Given the description of an element on the screen output the (x, y) to click on. 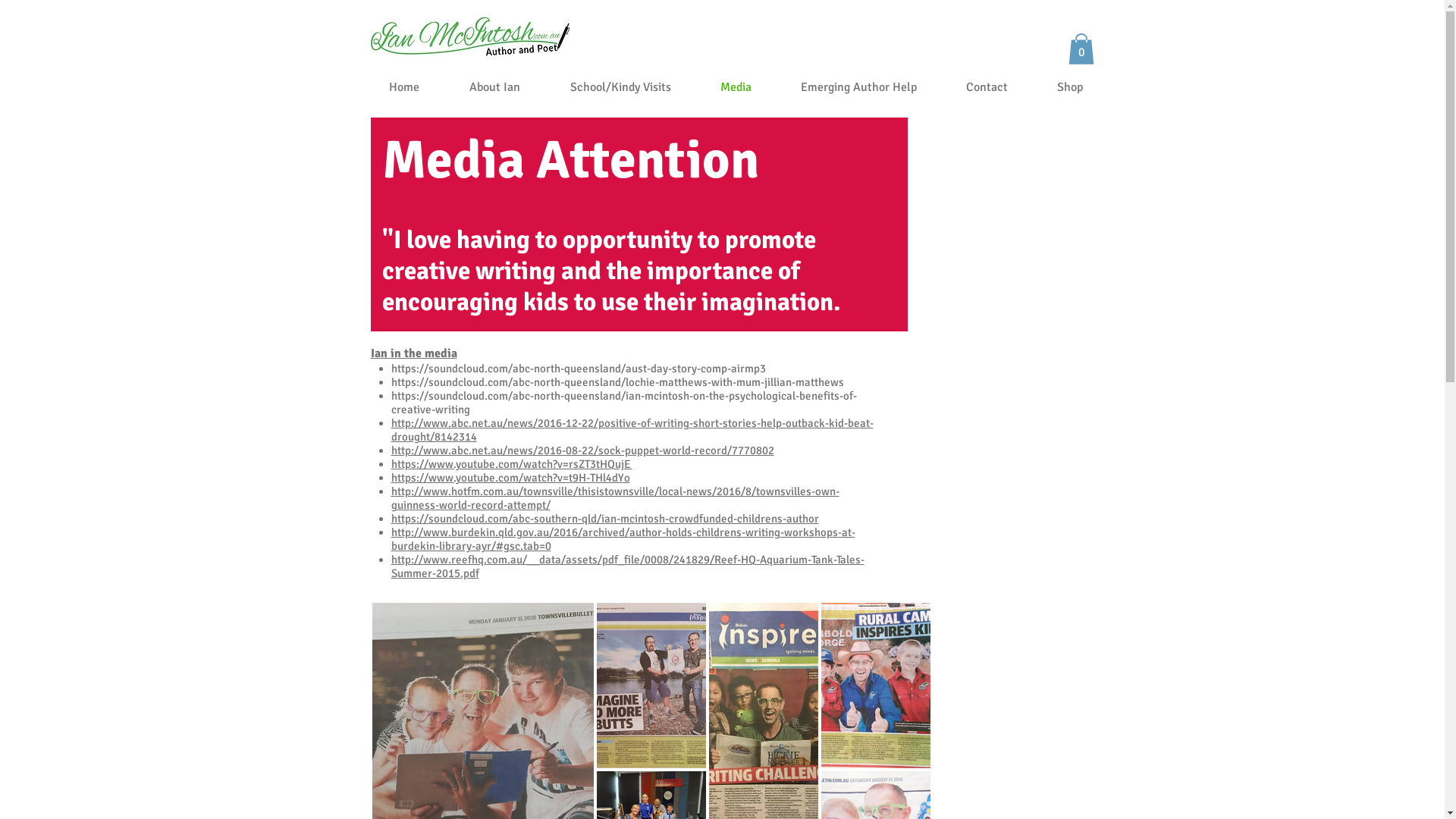
Contact Element type: text (973, 87)
School/Kindy Visits Element type: text (605, 87)
https://www.youtube.com/watch?v=rsZT3tHQujE  Element type: text (511, 463)
https://www.youtube.com/watch?v=t9H-THl4dYo Element type: text (510, 477)
About Ian Element type: text (480, 87)
Home Element type: text (389, 87)
Media Element type: text (722, 87)
Shop Element type: text (1056, 87)
Emerging Author Help Element type: text (845, 87)
0 Element type: text (1080, 48)
